Given the description of an element on the screen output the (x, y) to click on. 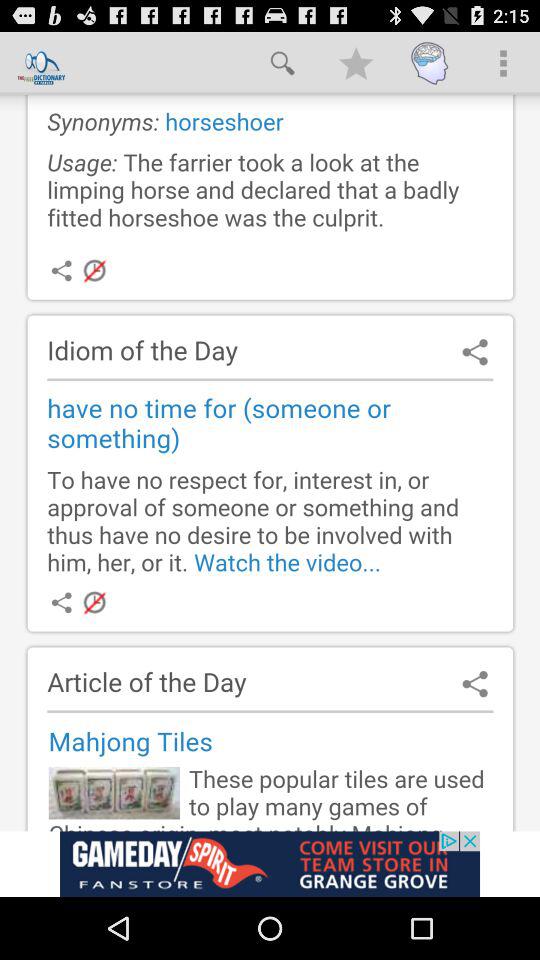
advertisement page (270, 864)
